Given the description of an element on the screen output the (x, y) to click on. 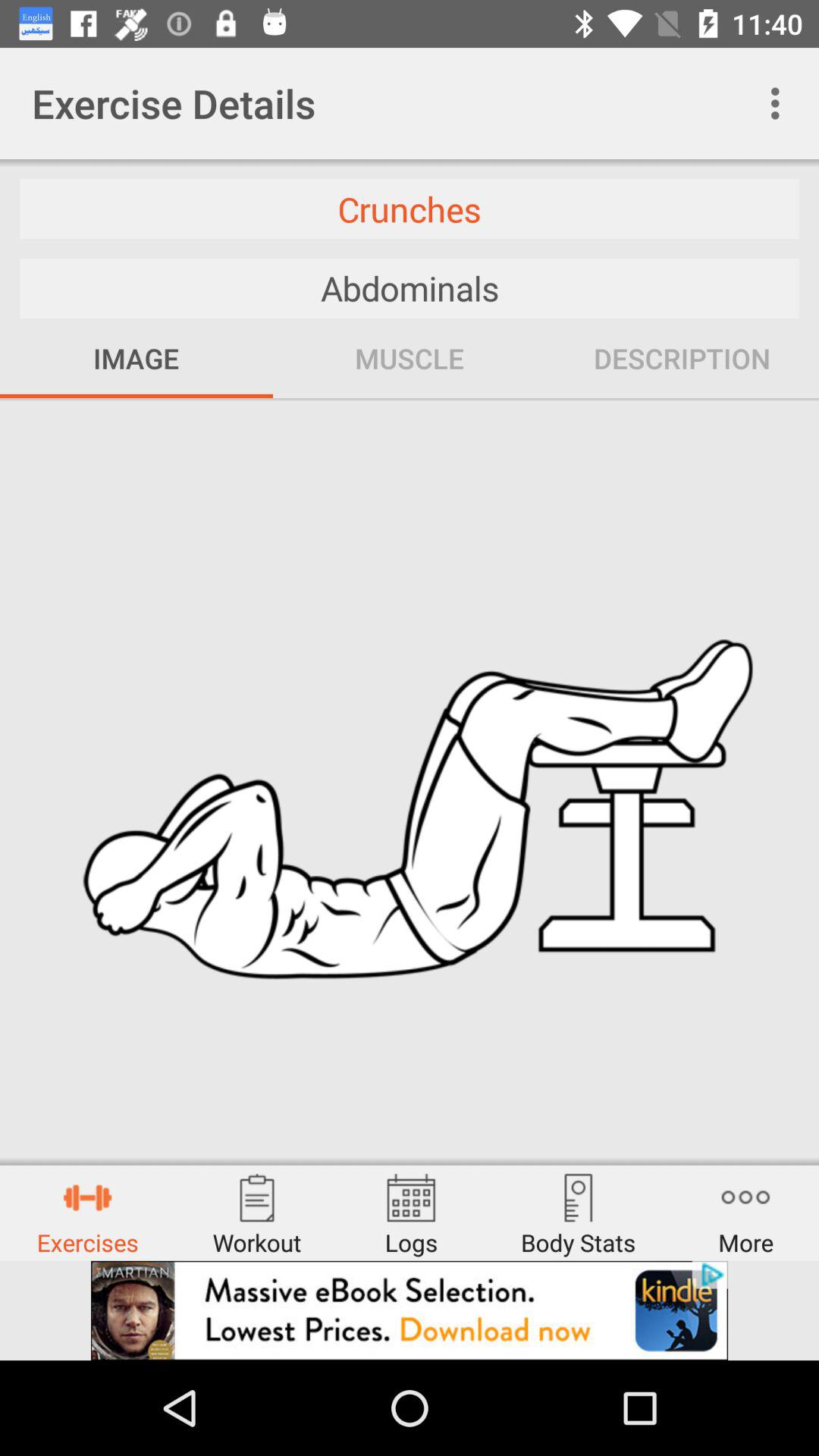
go to advertisement page (409, 1310)
